Given the description of an element on the screen output the (x, y) to click on. 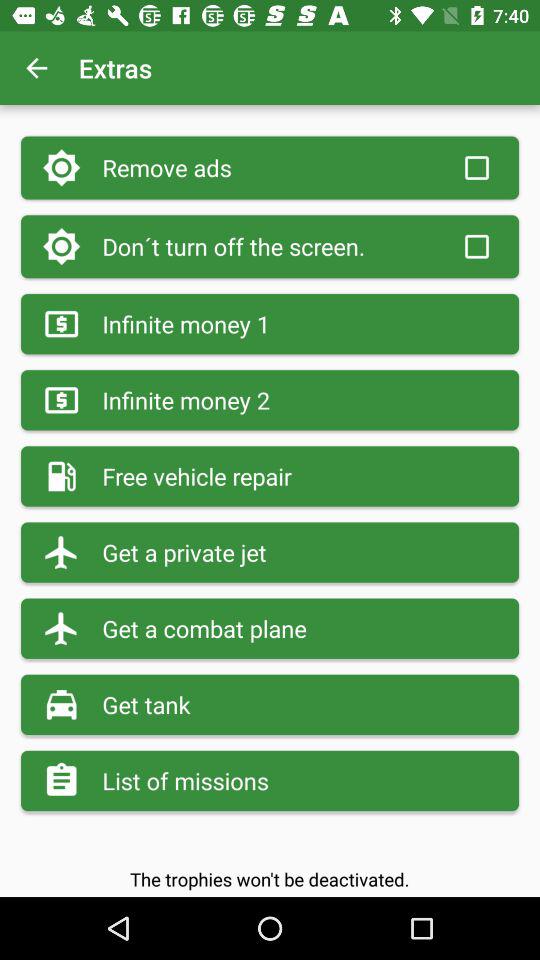
open the item to the right of don t turn item (476, 246)
